Given the description of an element on the screen output the (x, y) to click on. 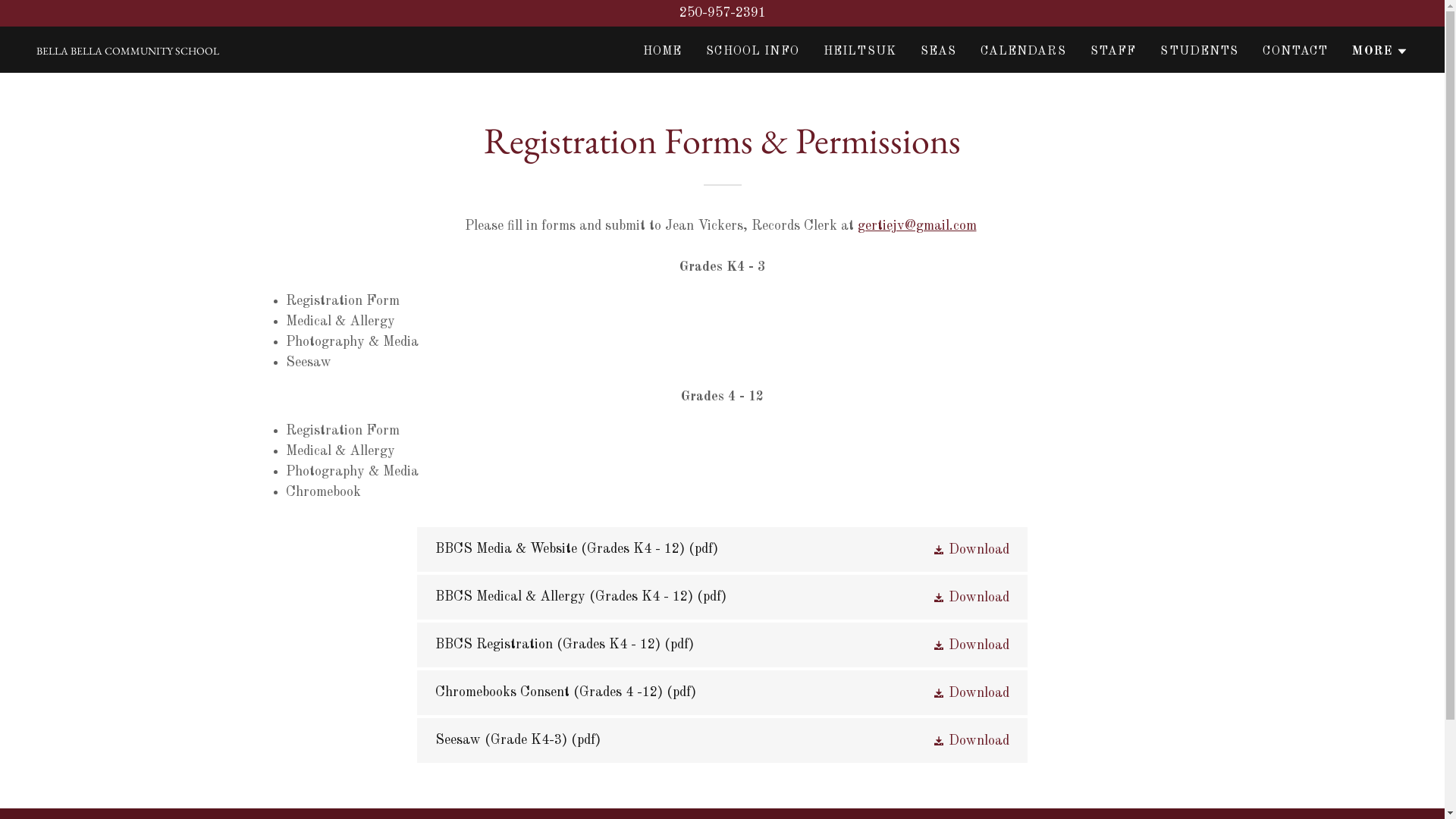
gertiejv@gmail.com Element type: text (915, 225)
BBCS Media & Website (Grades K4 - 12) (pdf)
Download Element type: text (722, 549)
SCHOOL INFO Element type: text (752, 51)
CALENDARS Element type: text (1022, 51)
MORE Element type: text (1380, 51)
STAFF Element type: text (1113, 51)
BBCS Registration (Grades K4 - 12) (pdf)
Download Element type: text (722, 644)
HEILTSUK Element type: text (859, 51)
SEAS Element type: text (938, 51)
Chromebooks Consent (Grades 4 -12) (pdf)
Download Element type: text (722, 692)
BELLA BELLA COMMUNITY SCHOOL Element type: text (127, 50)
CONTACT Element type: text (1295, 51)
STUDENTS Element type: text (1198, 51)
BBCS Medical & Allergy (Grades K4 - 12) (pdf)
Download Element type: text (722, 596)
HOME Element type: text (662, 51)
Seesaw (Grade K4-3) (pdf)
Download Element type: text (722, 740)
